Given the description of an element on the screen output the (x, y) to click on. 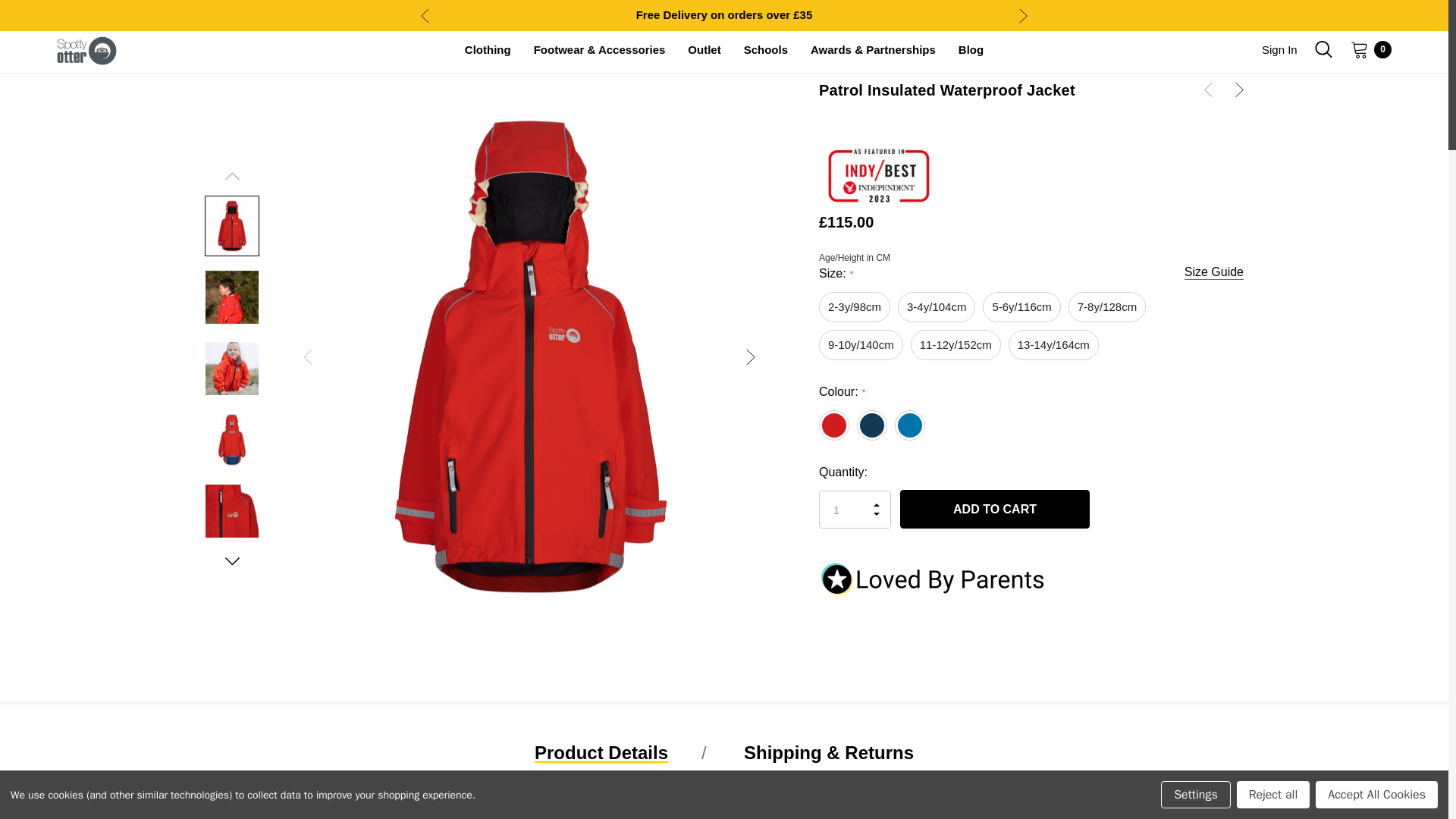
Outlet (704, 50)
Previous (424, 15)
Blog (970, 50)
Spotty Otter (86, 50)
Next (1022, 15)
Sign In (1279, 49)
Featured in IndyBest 2023 (724, 4)
Schools (765, 50)
